Given the description of an element on the screen output the (x, y) to click on. 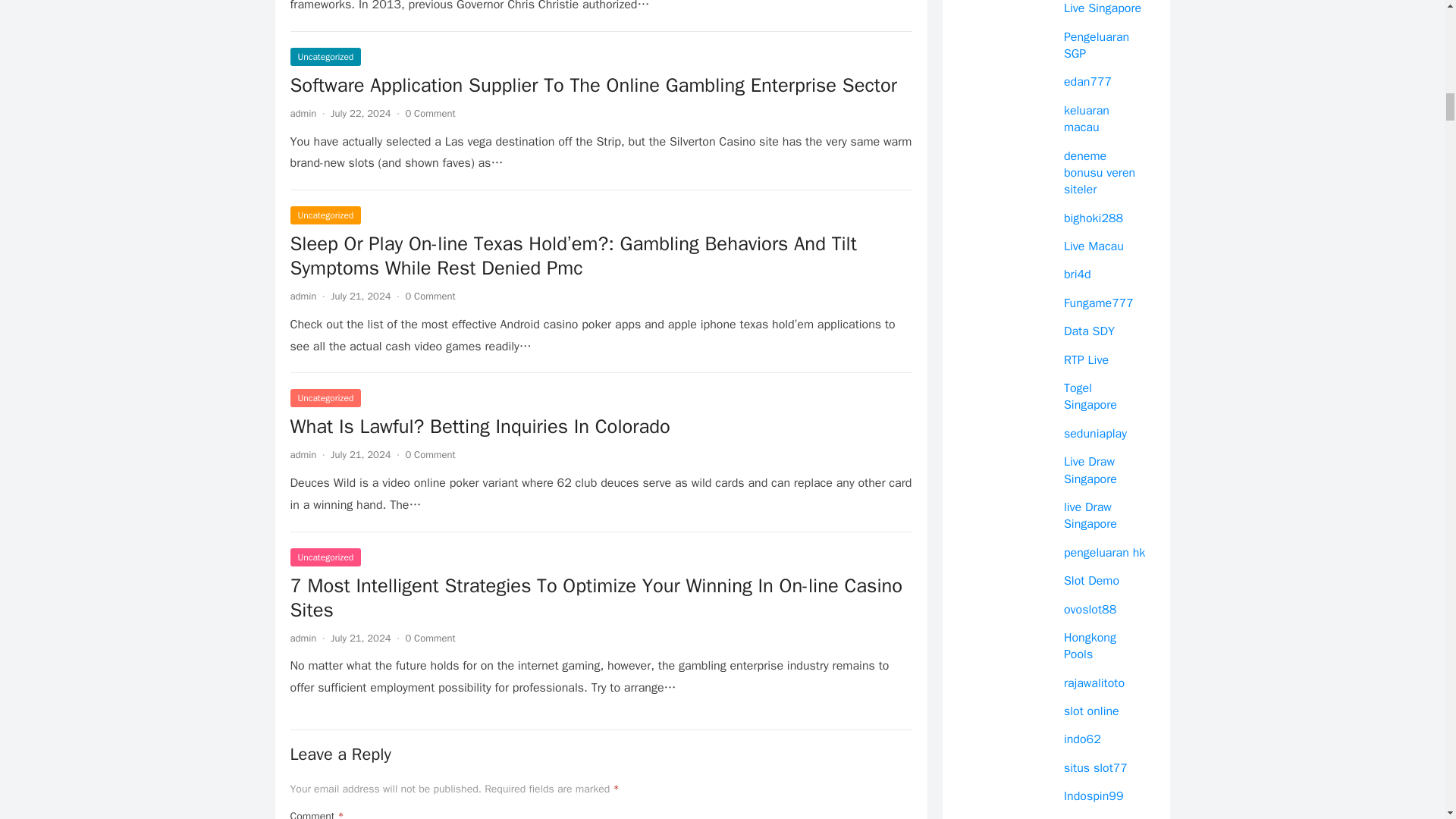
What Is Lawful? Betting Inquiries In Colorado (600, 426)
0 Comment (429, 113)
Uncategorized (325, 56)
admin (302, 637)
0 Comment (429, 295)
admin (302, 113)
Uncategorized (325, 215)
0 Comment (429, 454)
Posts by admin (302, 454)
Uncategorized (325, 398)
admin (302, 454)
Uncategorized (325, 556)
Posts by admin (302, 113)
